Given the description of an element on the screen output the (x, y) to click on. 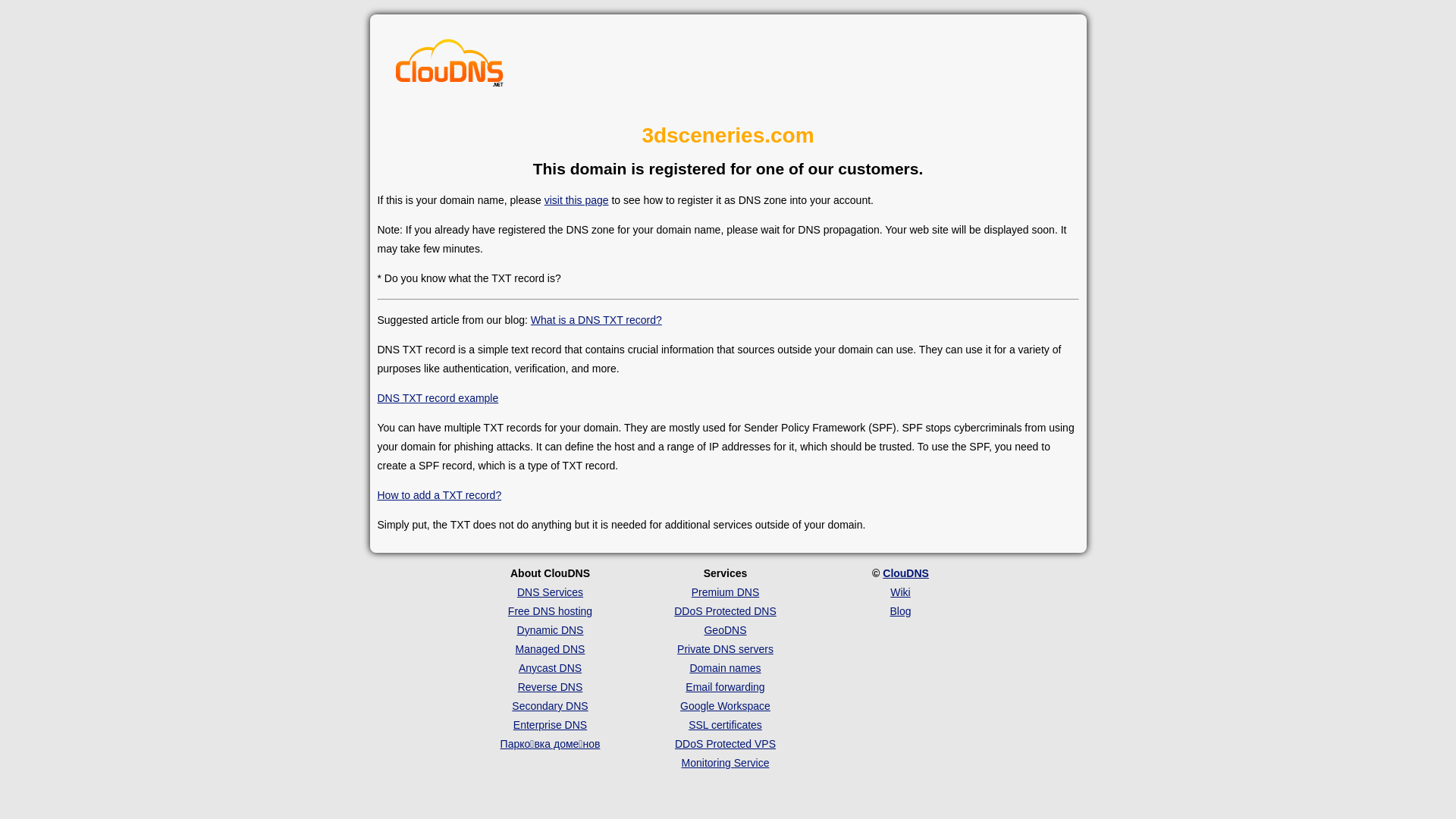
Google Workspace Element type: text (725, 705)
SSL certificates Element type: text (725, 724)
Domain names Element type: text (724, 668)
Dynamic DNS Element type: text (550, 630)
DNS Services Element type: text (550, 592)
Monitoring Service Element type: text (725, 762)
Wiki Element type: text (900, 592)
DDoS Protected DNS Element type: text (725, 611)
Cloud DNS Element type: hover (449, 66)
ClouDNS Element type: text (905, 573)
Email forwarding Element type: text (724, 686)
Reverse DNS Element type: text (550, 686)
Managed DNS Element type: text (550, 649)
Private DNS servers Element type: text (725, 649)
Premium DNS Element type: text (725, 592)
Blog Element type: text (899, 611)
Anycast DNS Element type: text (549, 668)
Enterprise DNS Element type: text (549, 724)
visit this page Element type: text (576, 200)
DNS TXT record example Element type: text (437, 398)
DDoS Protected VPS Element type: text (724, 743)
Free DNS hosting Element type: text (550, 611)
GeoDNS Element type: text (724, 630)
How to add a TXT record? Element type: text (439, 495)
Secondary DNS Element type: text (549, 705)
What is a DNS TXT record? Element type: text (596, 319)
